Given the description of an element on the screen output the (x, y) to click on. 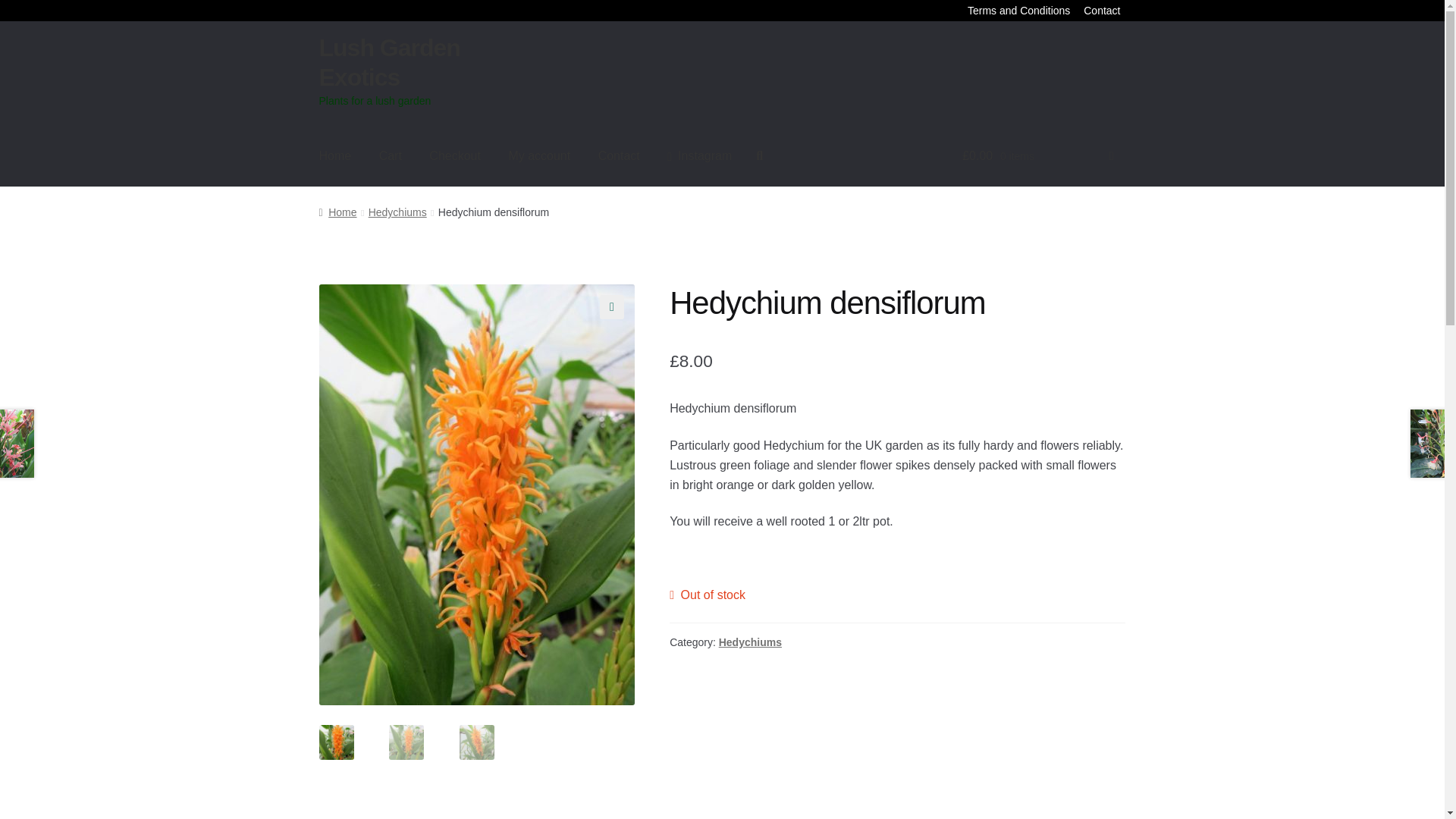
Checkout (454, 155)
Home (337, 212)
Lush Garden Exotics (389, 62)
Instagram (699, 155)
Hedychiums (750, 642)
Contact (1101, 10)
Terms and Conditions (1018, 10)
Home (335, 155)
View your shopping cart (1037, 165)
My account (539, 155)
Contact (619, 155)
Hedychiums (397, 212)
